Given the description of an element on the screen output the (x, y) to click on. 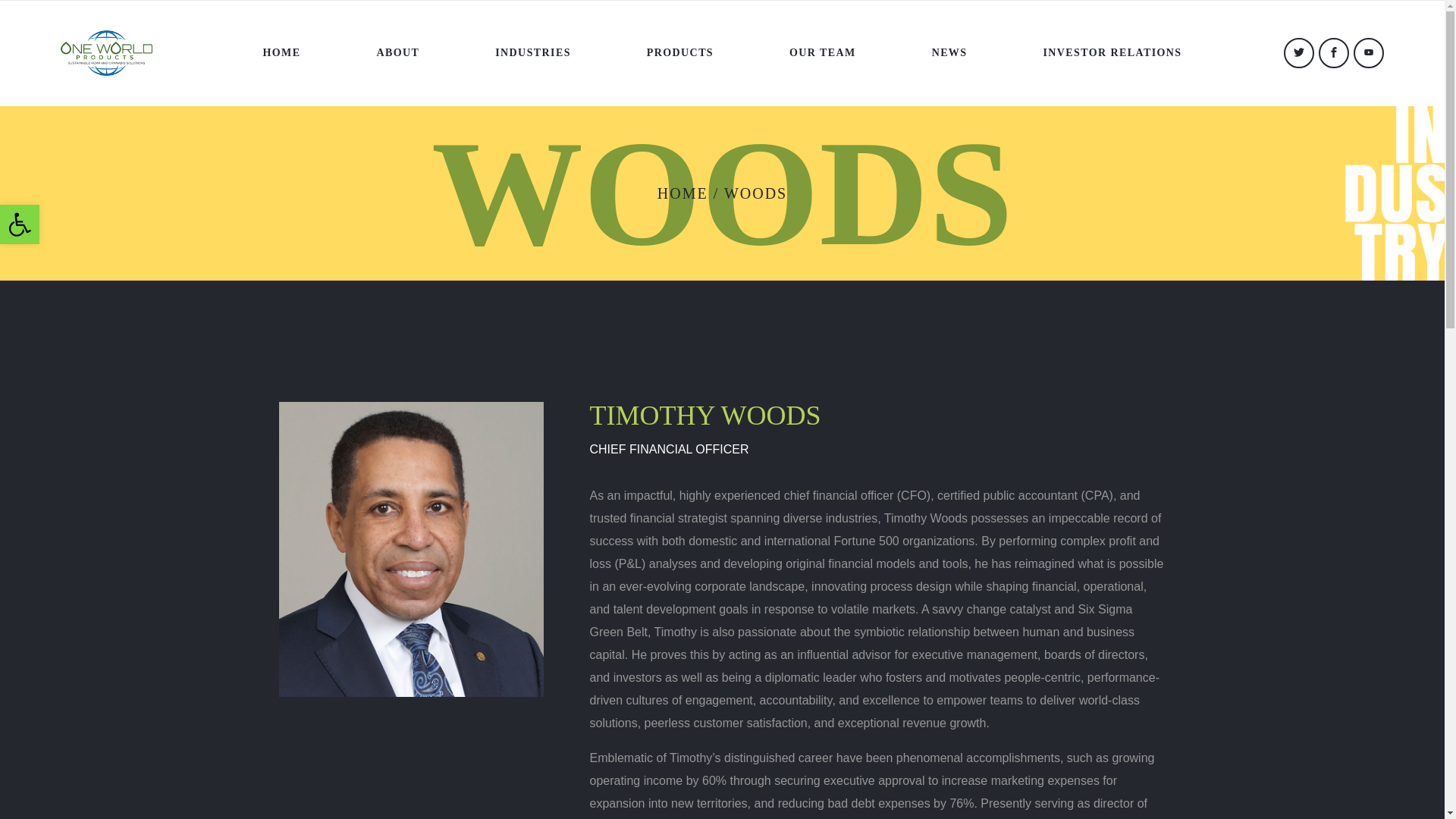
Accessibility Tools (19, 224)
Accessibility Tools (19, 224)
INVESTOR RELATIONS (19, 224)
HOME (1111, 53)
